Given the description of an element on the screen output the (x, y) to click on. 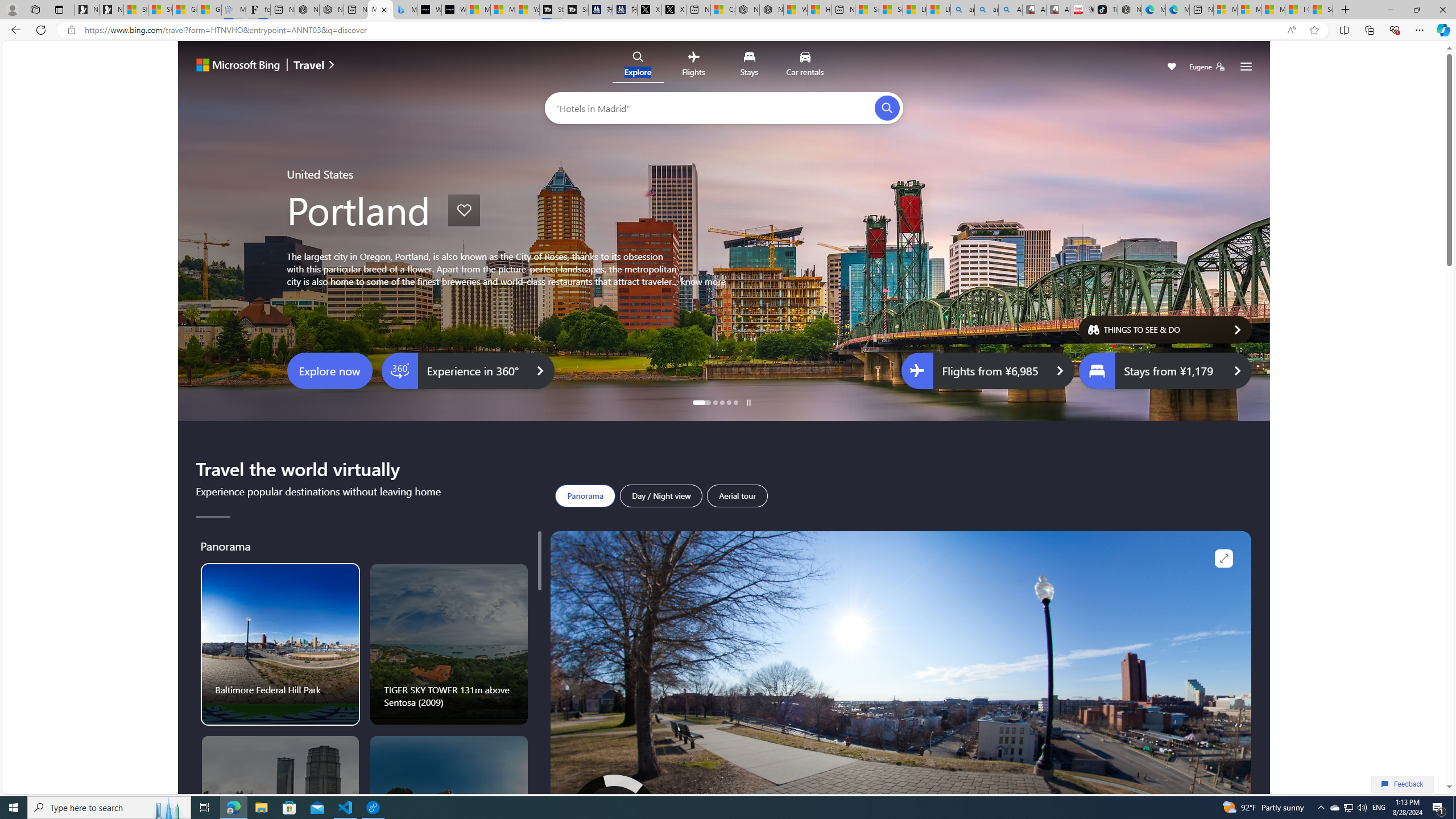
Settings and more (Alt+F) (1419, 29)
Microsoft Bing Travel (380, 9)
Class: msft-bing-logo msft-bing-logo-desktop (234, 64)
Car rentals (804, 65)
View site information (70, 29)
Eugene (1206, 66)
